Given the description of an element on the screen output the (x, y) to click on. 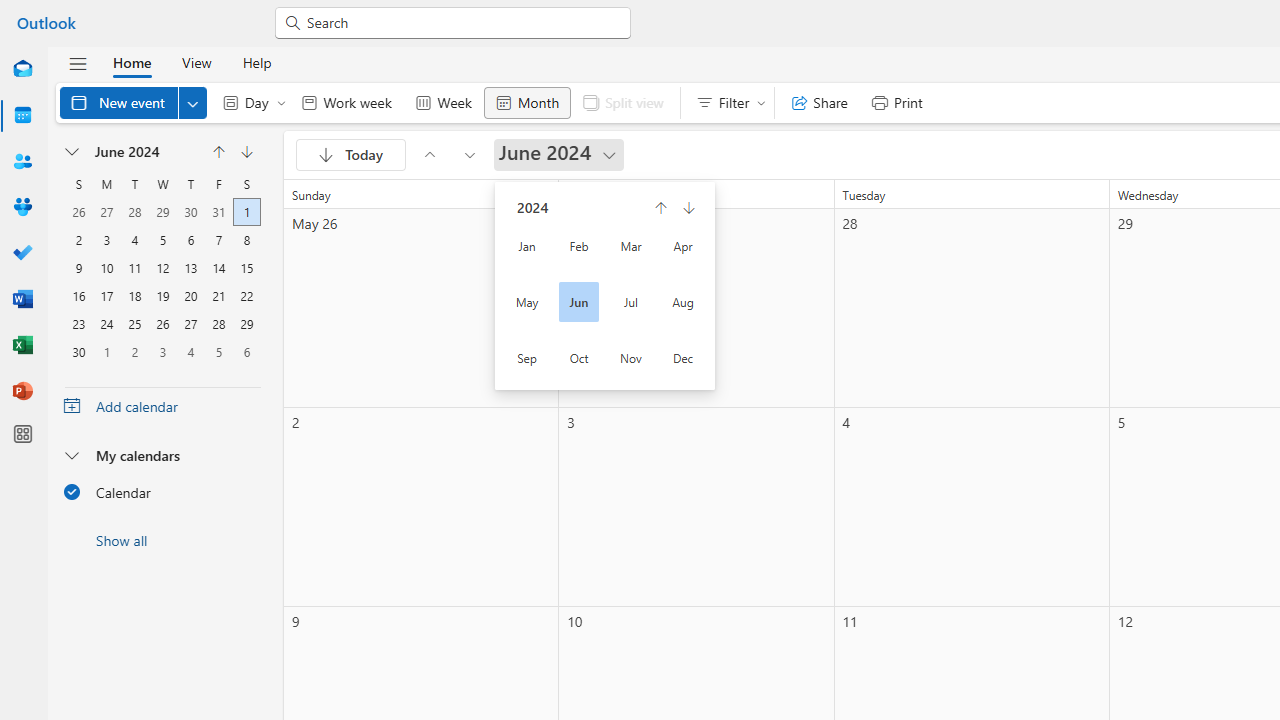
2, July, 2024 (134, 350)
New event (133, 102)
28, May, 2024 (134, 209)
7, June, 2024 (218, 238)
8, June, 2024 (246, 238)
Saturday (246, 183)
Work week (346, 102)
25, June, 2024 (134, 322)
24, June, 2024 (107, 322)
2, June, 2024 (78, 238)
5, June, 2024 (162, 237)
12, June, 2024 (162, 265)
Go to next month July 2024 (470, 154)
Print (896, 102)
30, May, 2024 (191, 210)
